Given the description of an element on the screen output the (x, y) to click on. 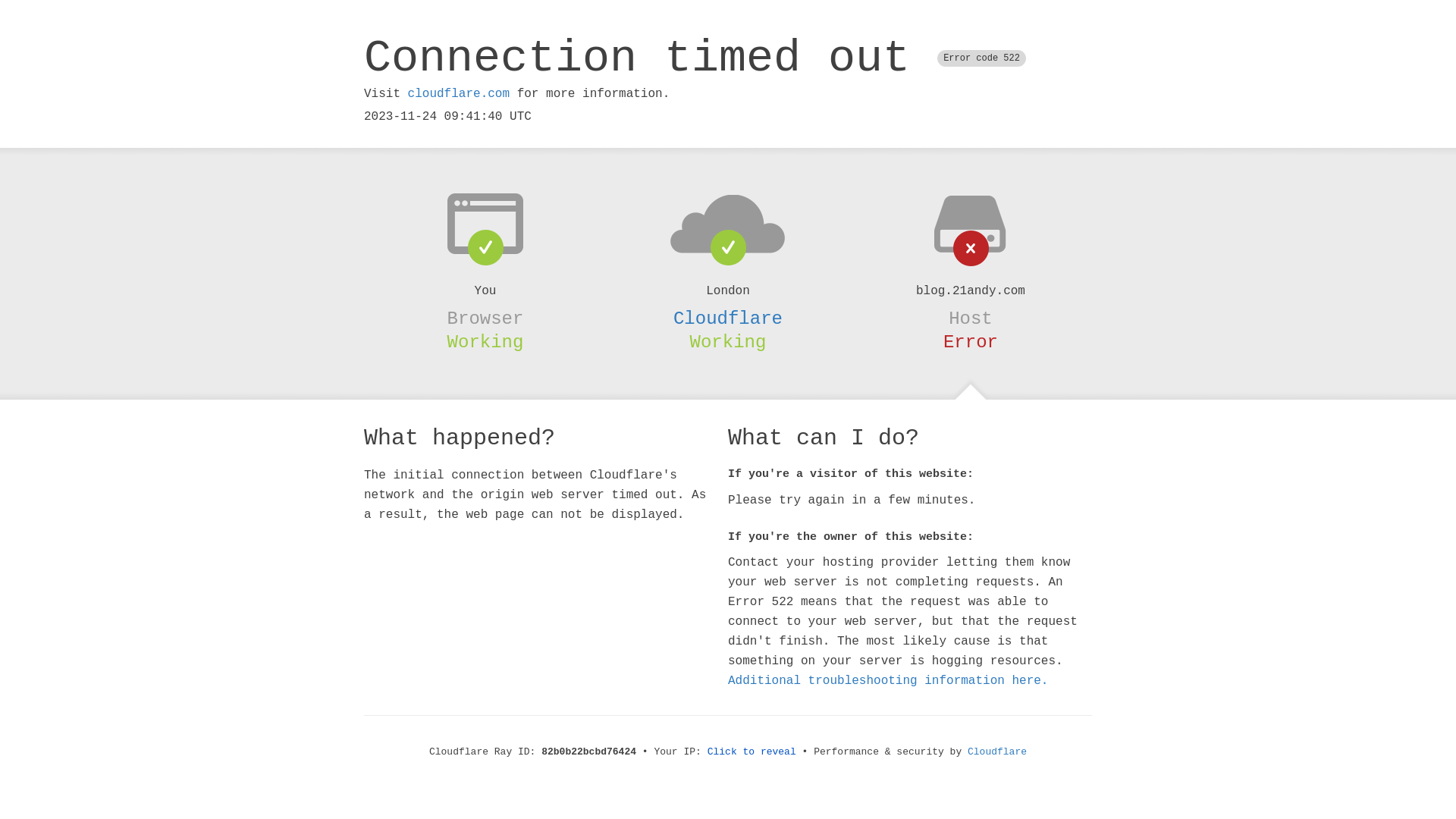
Additional troubleshooting information here. Element type: text (888, 680)
Click to reveal Element type: text (751, 751)
Cloudflare Element type: text (727, 318)
cloudflare.com Element type: text (458, 93)
Cloudflare Element type: text (996, 751)
